Given the description of an element on the screen output the (x, y) to click on. 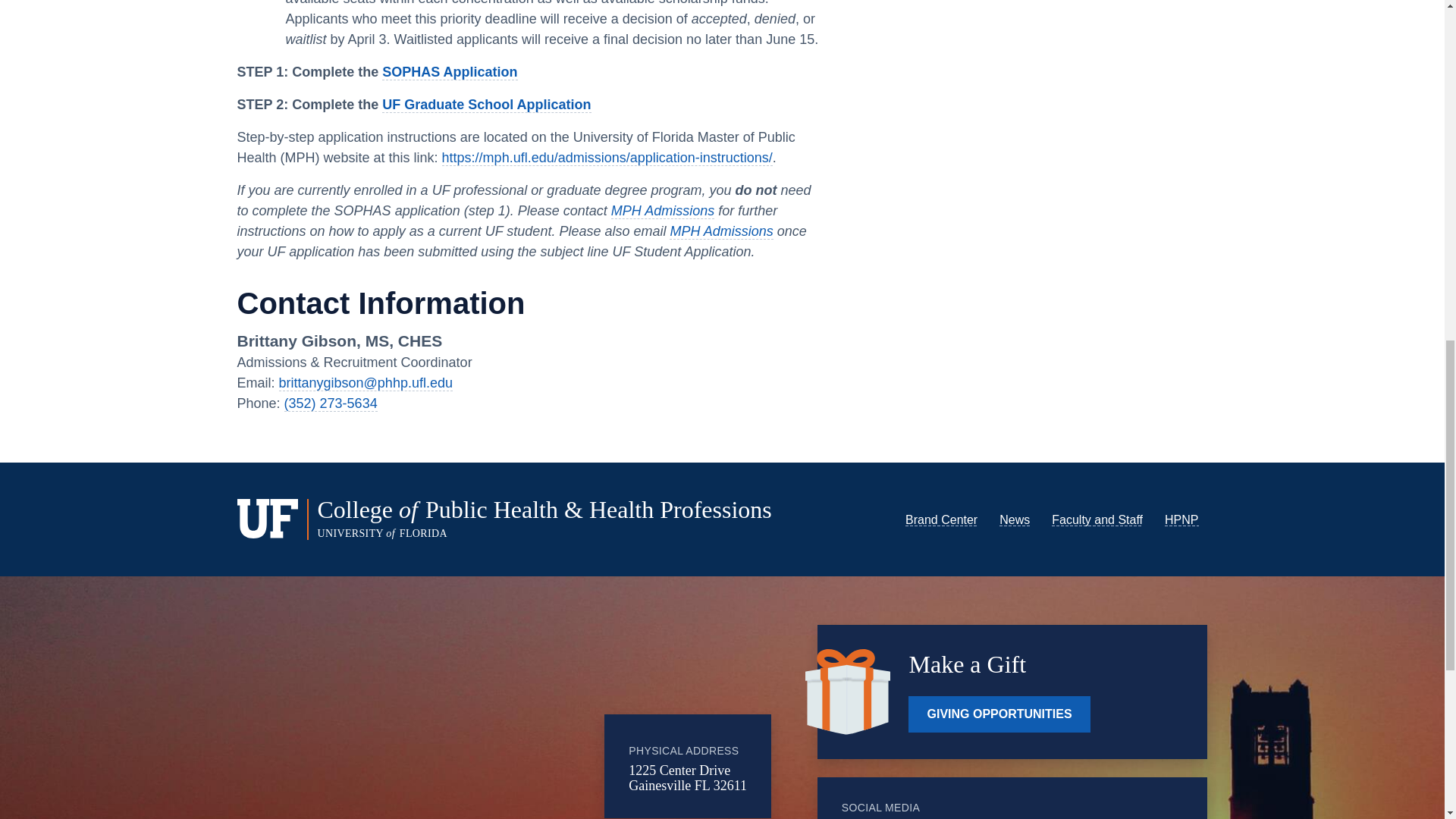
News (1013, 519)
HPNP (1181, 519)
Brand Center (940, 519)
Faculty and Staff (1096, 519)
Google Maps Embed (480, 724)
